Given the description of an element on the screen output the (x, y) to click on. 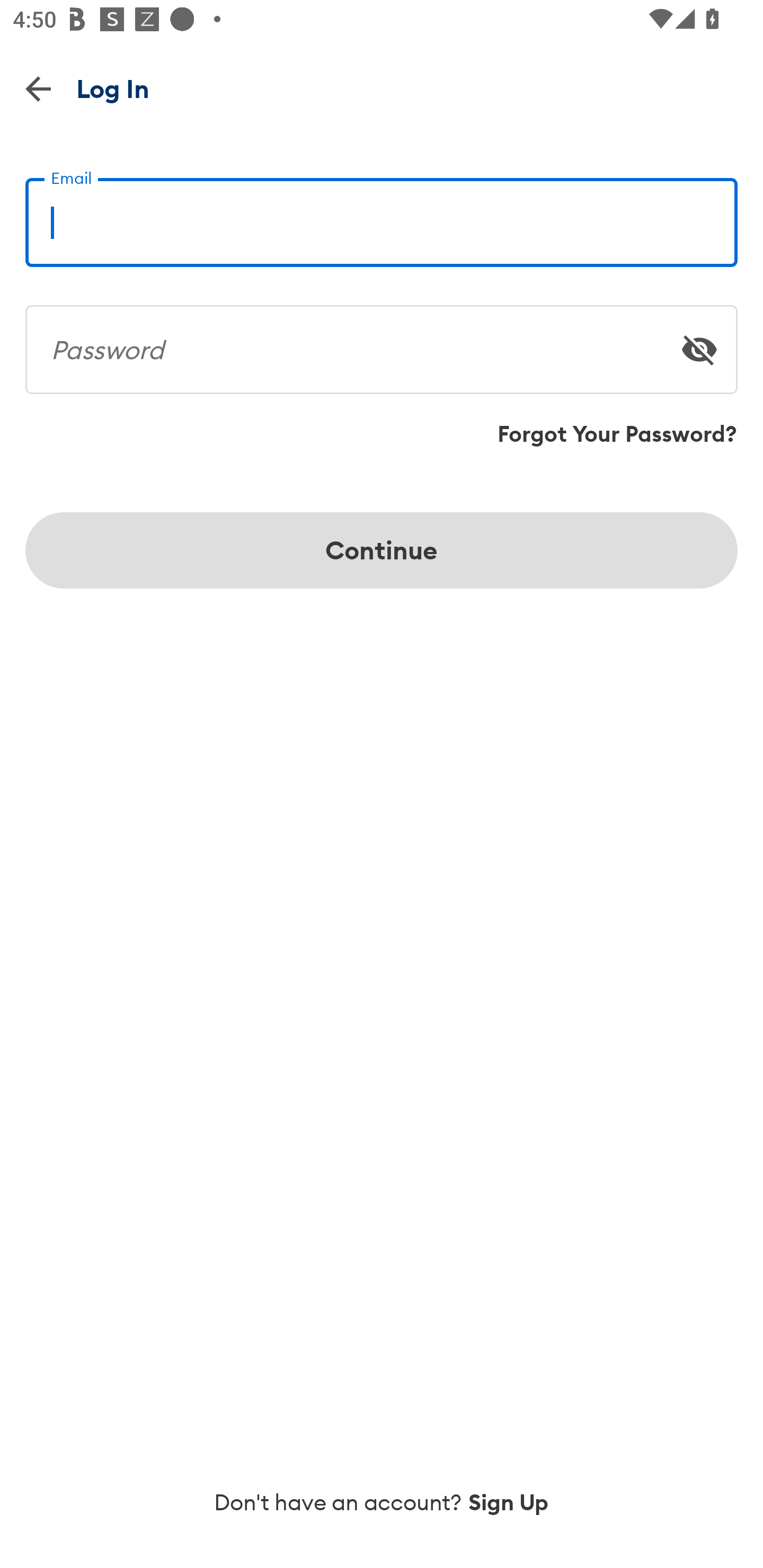
Back (38, 88)
Email (381, 215)
Password (381, 342)
Forgot Your Password? (617, 433)
Continue (381, 550)
Sign Up (508, 1502)
